Given the description of an element on the screen output the (x, y) to click on. 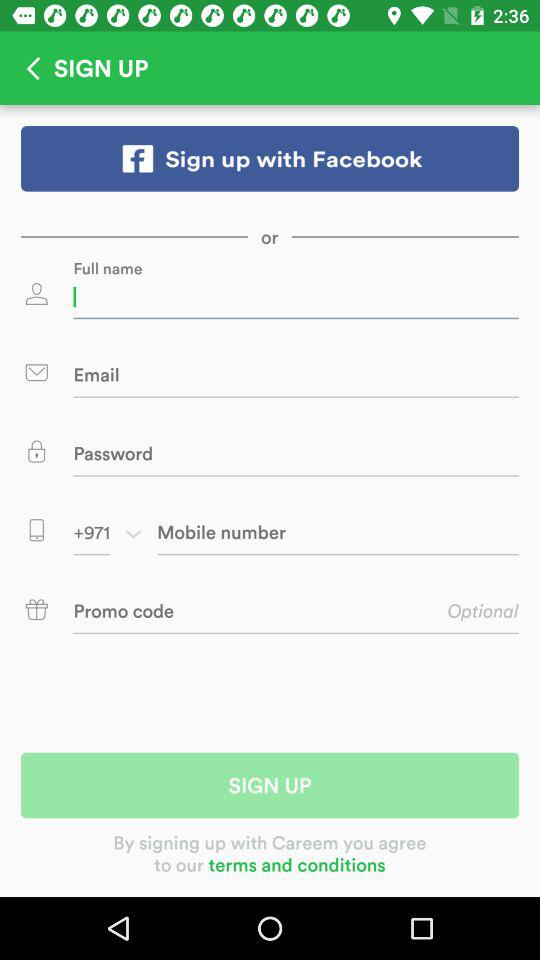
sign up option (270, 158)
